Given the description of an element on the screen output the (x, y) to click on. 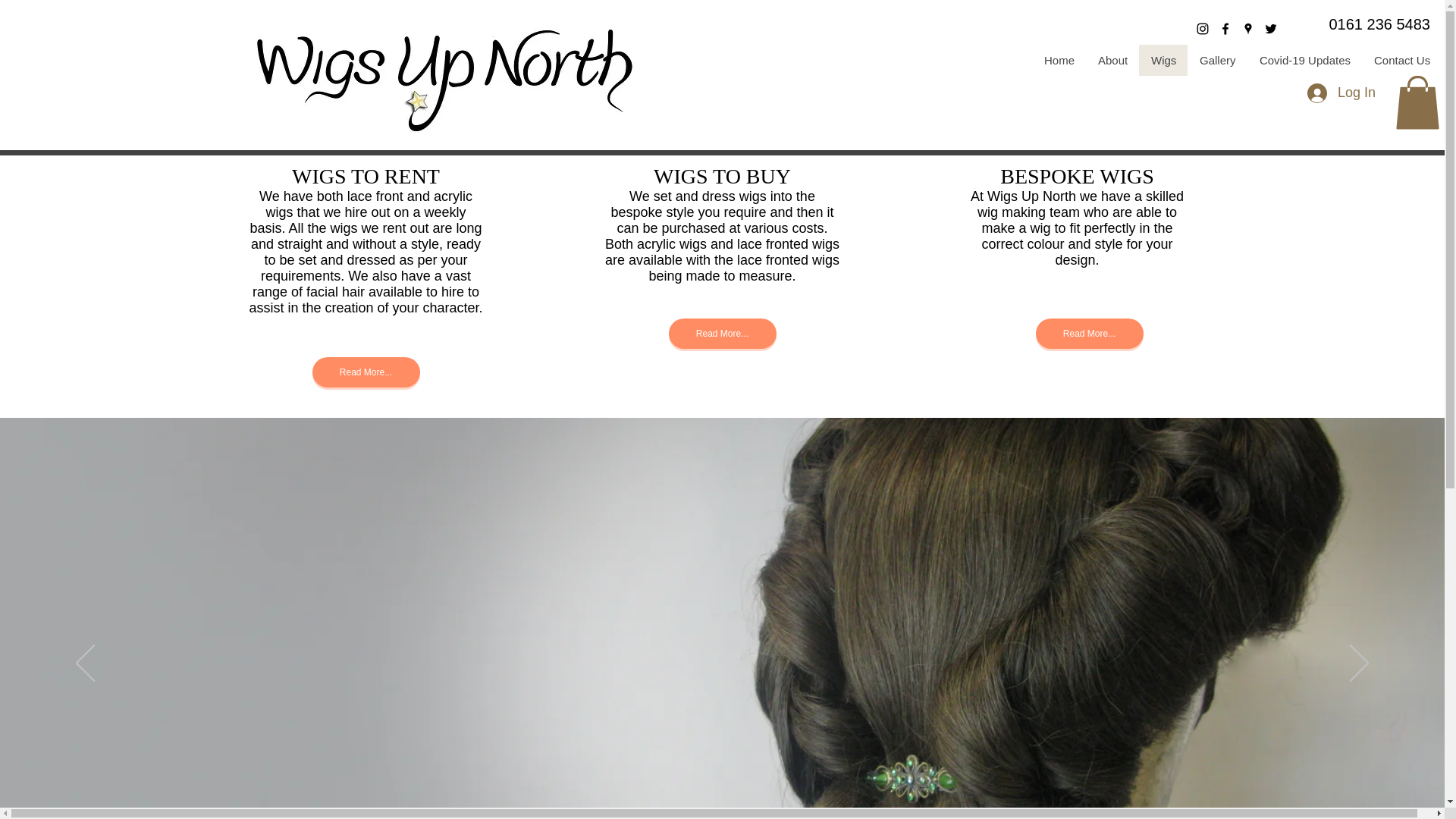
Covid-19 Updates (1303, 60)
Log In (1341, 92)
Contact Us (1401, 60)
About (1112, 60)
Gallery (1217, 60)
Read More... (1088, 333)
Home (1059, 60)
Read More... (366, 372)
Wigs (1163, 60)
Read More... (722, 333)
